Given the description of an element on the screen output the (x, y) to click on. 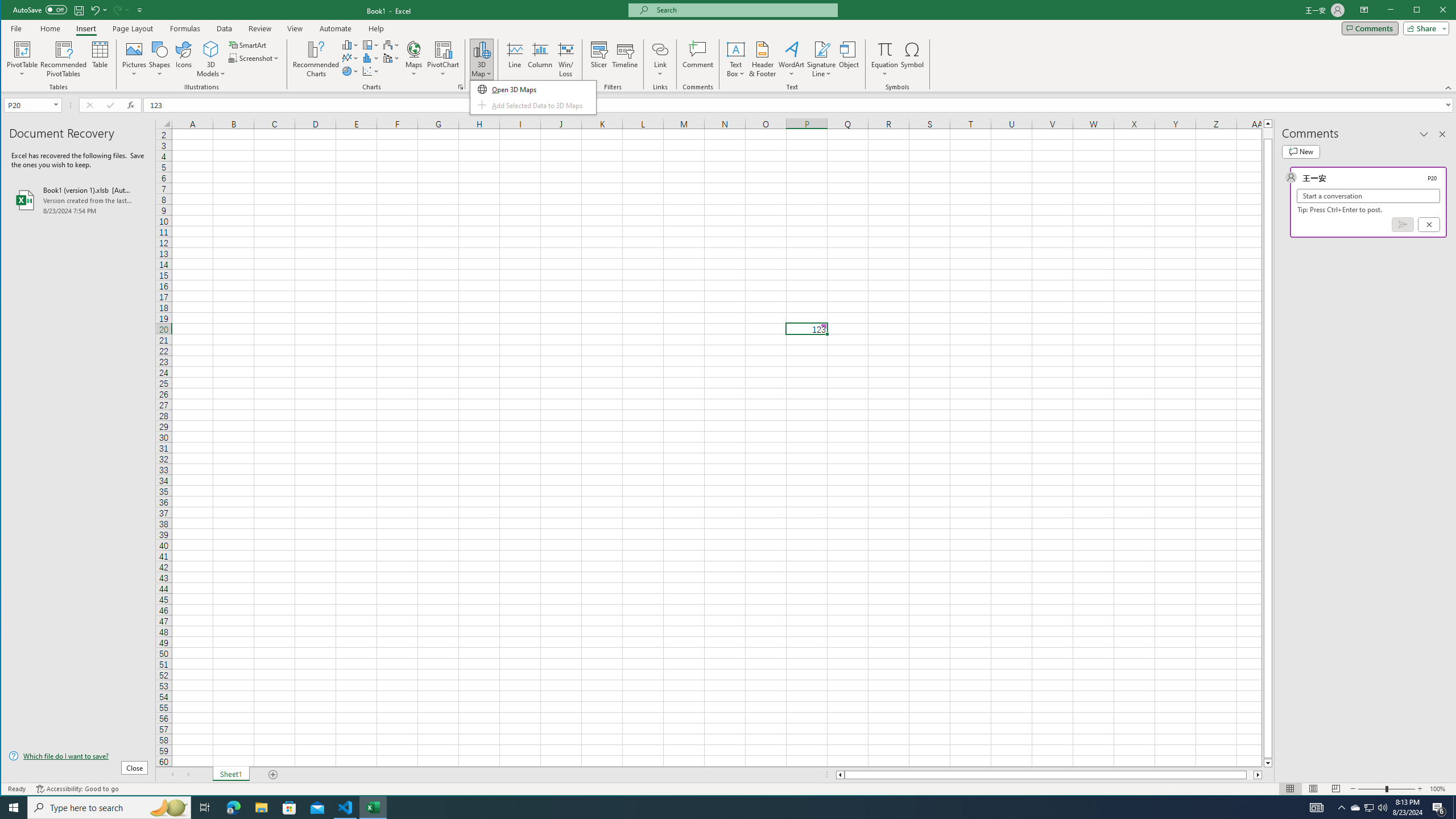
Insert Column or Bar Chart (350, 44)
File Explorer (261, 807)
Cancel (1428, 224)
Insert Scatter (X, Y) or Bubble Chart (371, 70)
Q2790: 100% (1382, 807)
